Given the description of an element on the screen output the (x, y) to click on. 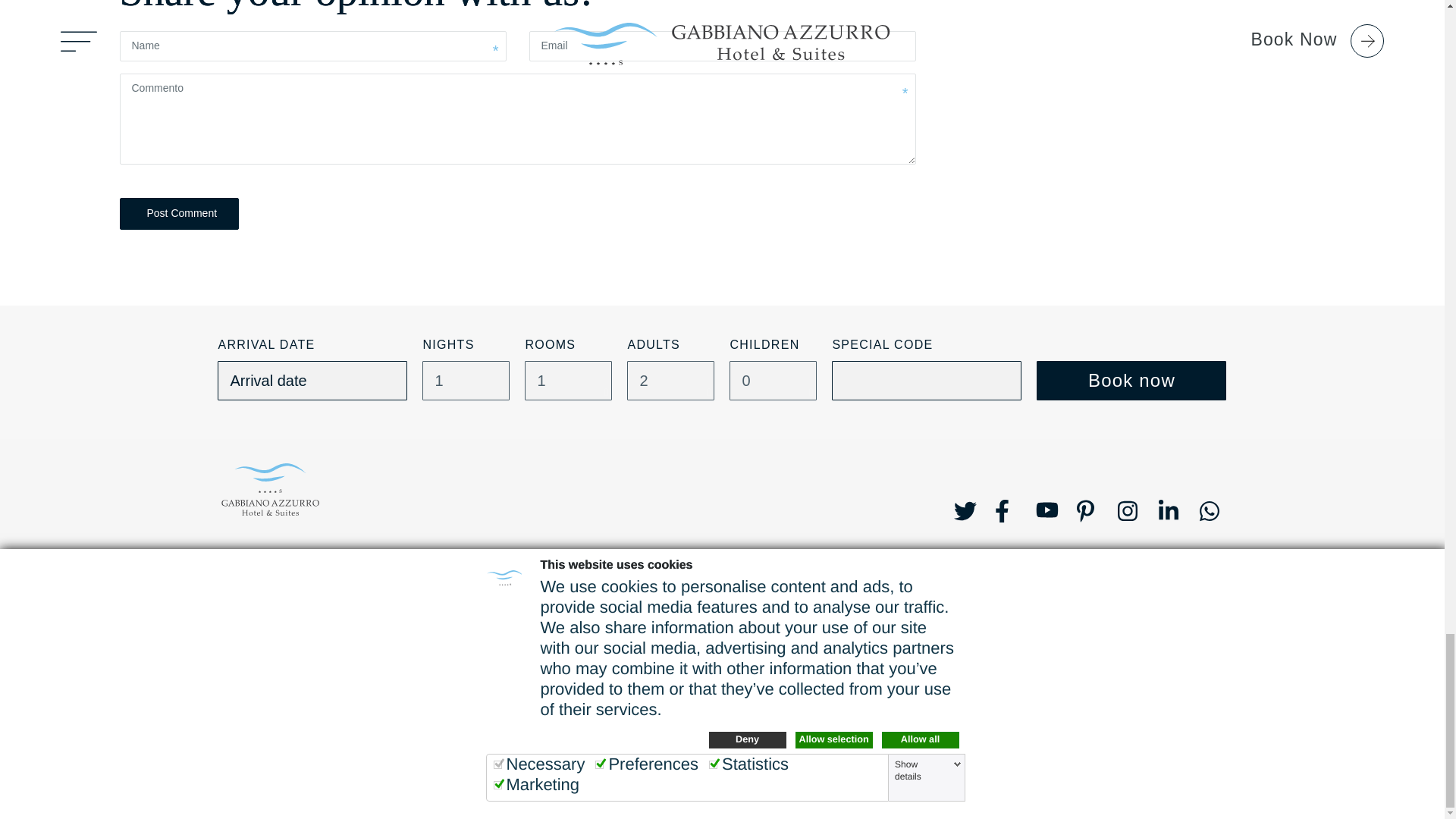
Book now (1130, 380)
